Given the description of an element on the screen output the (x, y) to click on. 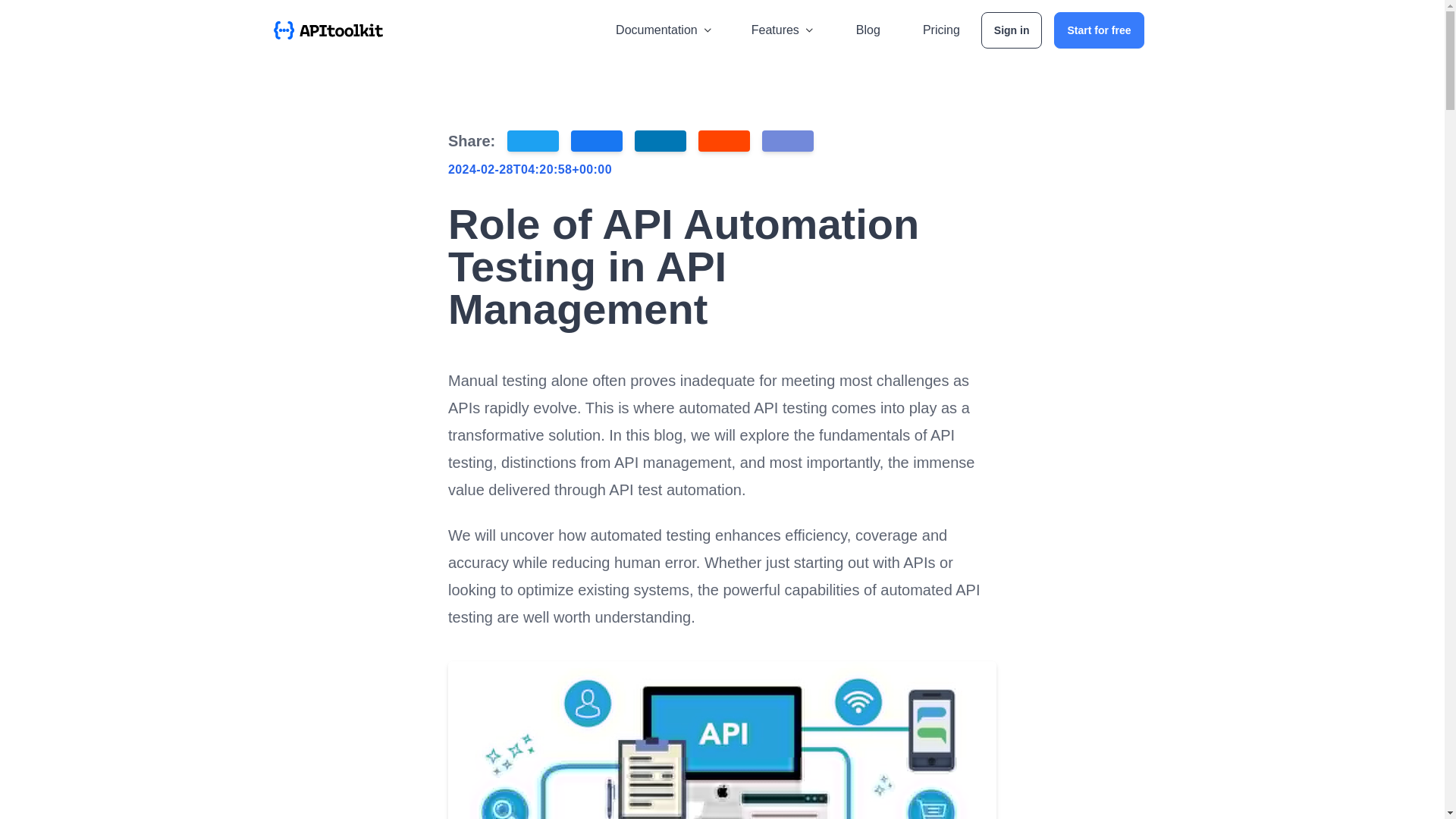
Documentation (665, 30)
Share on Reddit (723, 140)
Share on Facebook (596, 140)
Share on LinkedIn (659, 140)
Start for free (1098, 30)
Features (783, 30)
Documentation (665, 30)
Pricing (941, 30)
Blog (868, 30)
Share on Discord (787, 140)
